Given the description of an element on the screen output the (x, y) to click on. 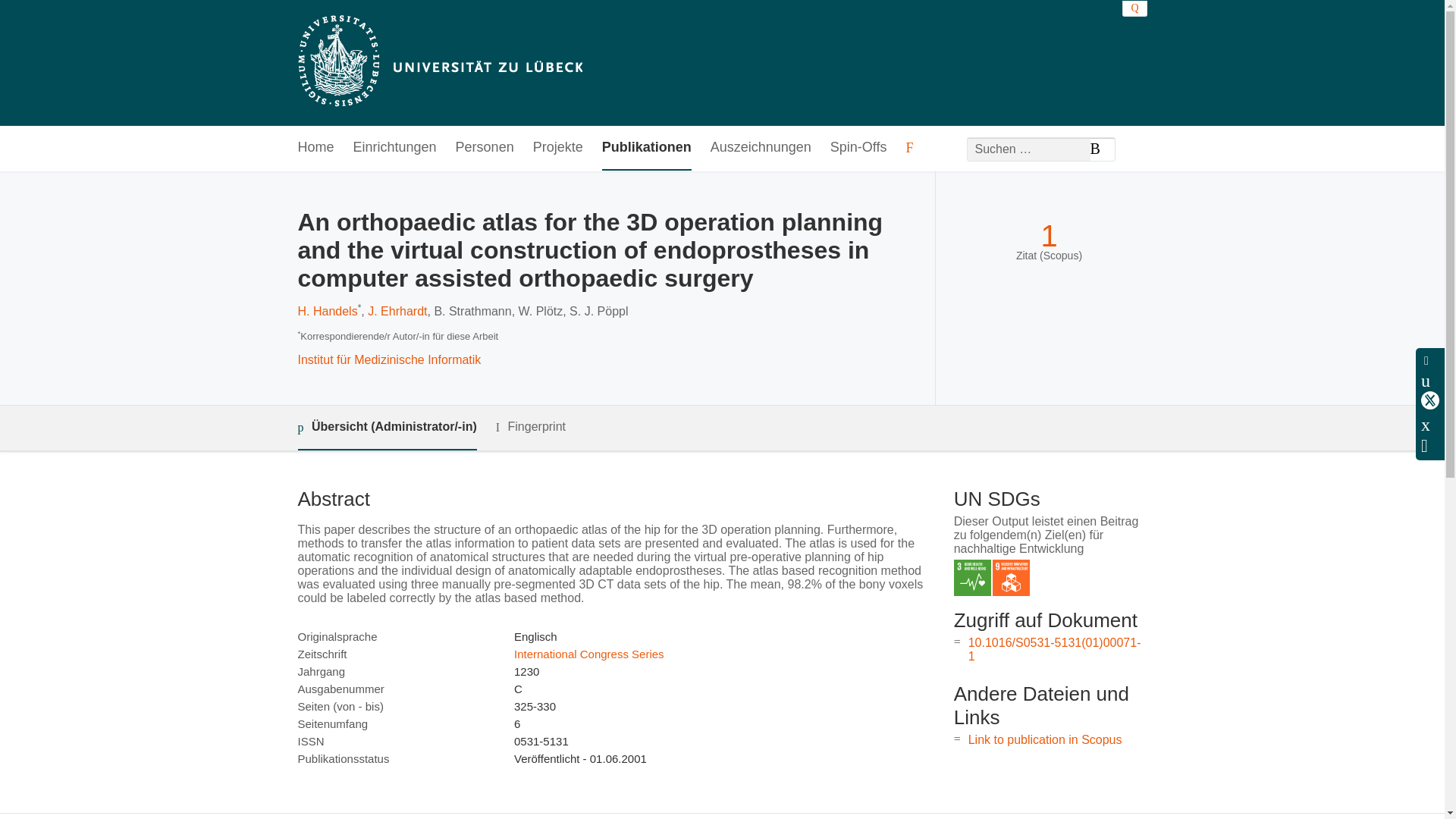
Publikationen (646, 148)
International Congress Series (588, 653)
Fingerprint (531, 426)
H. Handels (326, 310)
Projekte (557, 148)
J. Ehrhardt (397, 310)
Personen (484, 148)
Einrichtungen (394, 148)
Spin-Offs (857, 148)
